Given the description of an element on the screen output the (x, y) to click on. 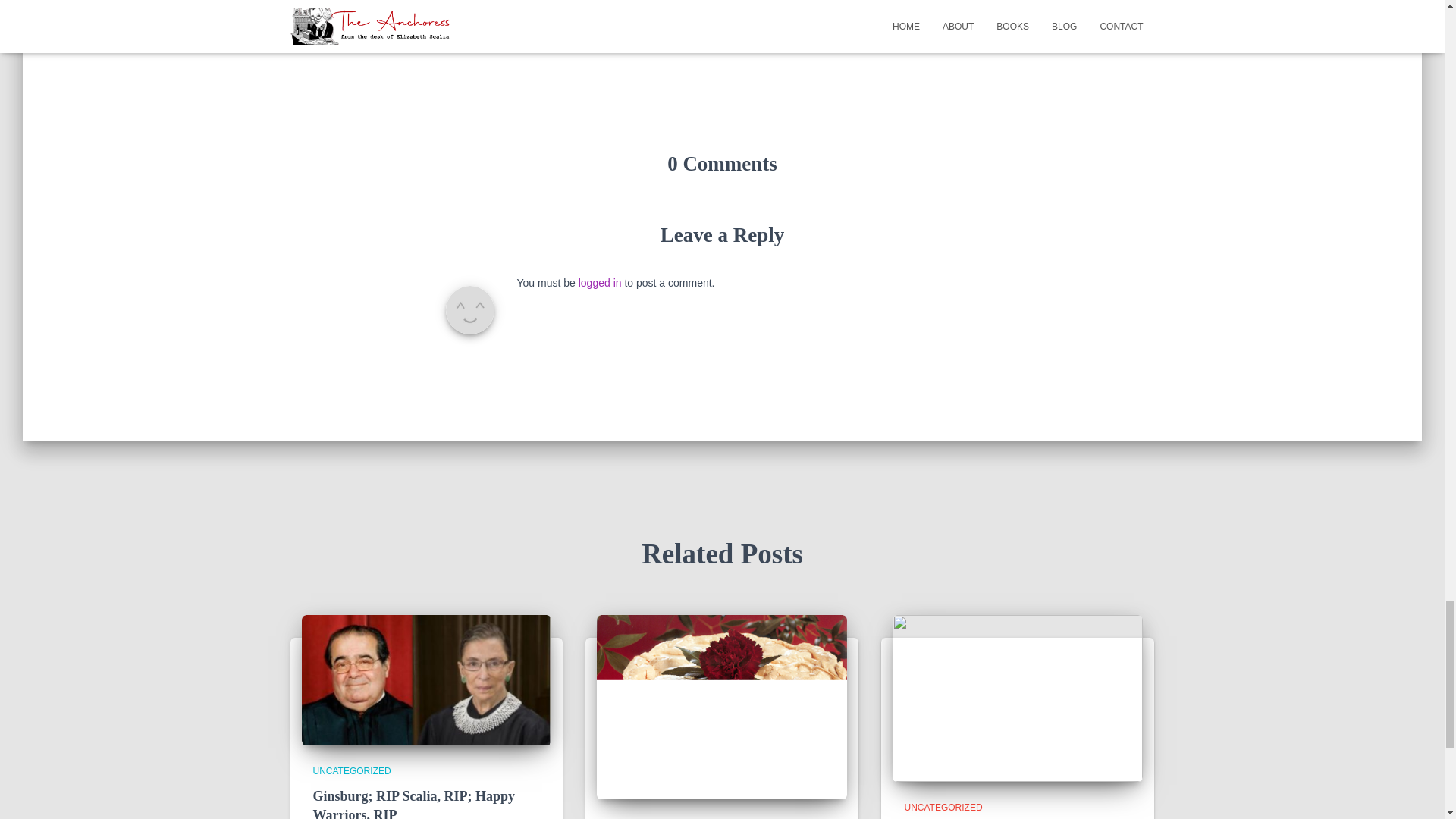
View all posts in Uncategorized (942, 807)
UNCATEGORIZED (942, 807)
A Light, Delicious Meringue Cake for Christmas! (721, 705)
UNCATEGORIZED (351, 770)
Books (484, 35)
UNCATEGORIZED (542, 9)
Ginsburg; RIP Scalia, RIP; Happy Warriors, RIP (426, 679)
View all posts in Uncategorized (351, 770)
Gifts (573, 35)
logged in (599, 282)
